Given the description of an element on the screen output the (x, y) to click on. 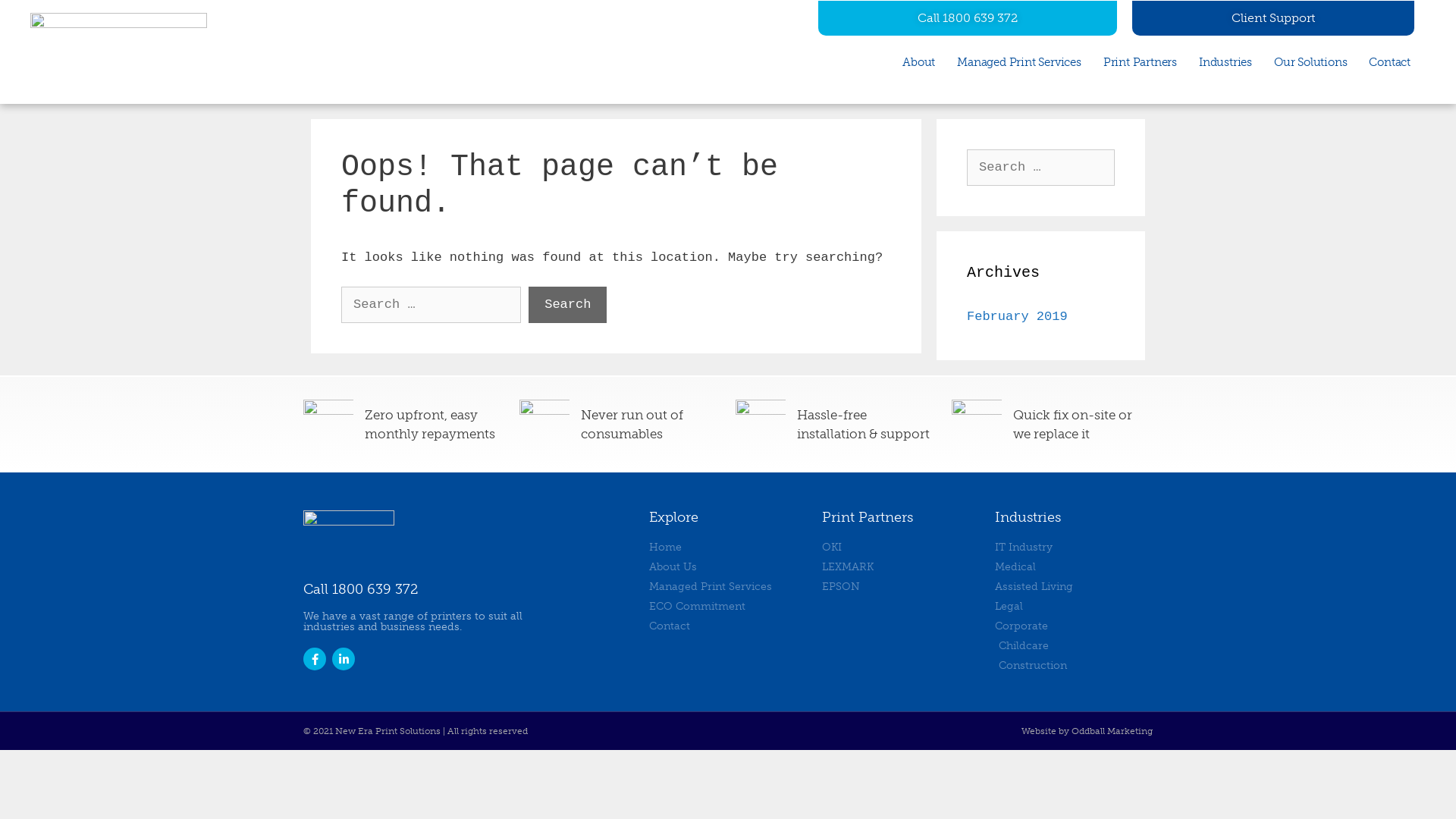
About Element type: text (918, 61)
Corporate Element type: text (1073, 625)
Contact Element type: text (1389, 61)
Construction Element type: text (1073, 665)
Medical Element type: text (1073, 566)
Managed Print Services Element type: text (1019, 61)
Our Solutions Element type: text (1310, 61)
Search Element type: text (567, 304)
Call 1800 639 372 Element type: text (360, 588)
Industries Element type: text (1225, 61)
Search for: Element type: hover (1040, 167)
Search for: Element type: hover (430, 304)
Childcare Element type: text (1073, 645)
Search Element type: text (39, 18)
Contact Element type: text (727, 625)
ECO Commitment Element type: text (727, 606)
EPSON Element type: text (900, 586)
Managed Print Services Element type: text (727, 586)
Call 1800 639 372 Element type: text (967, 17)
About Us Element type: text (727, 566)
Client Support Element type: text (1273, 17)
Legal Element type: text (1073, 606)
LEXMARK Element type: text (900, 566)
Home Element type: text (727, 547)
Print Partners Element type: text (1139, 61)
IT Industry Element type: text (1073, 547)
February 2019 Element type: text (1016, 316)
OKI Element type: text (900, 547)
Assisted Living Element type: text (1073, 586)
